Given the description of an element on the screen output the (x, y) to click on. 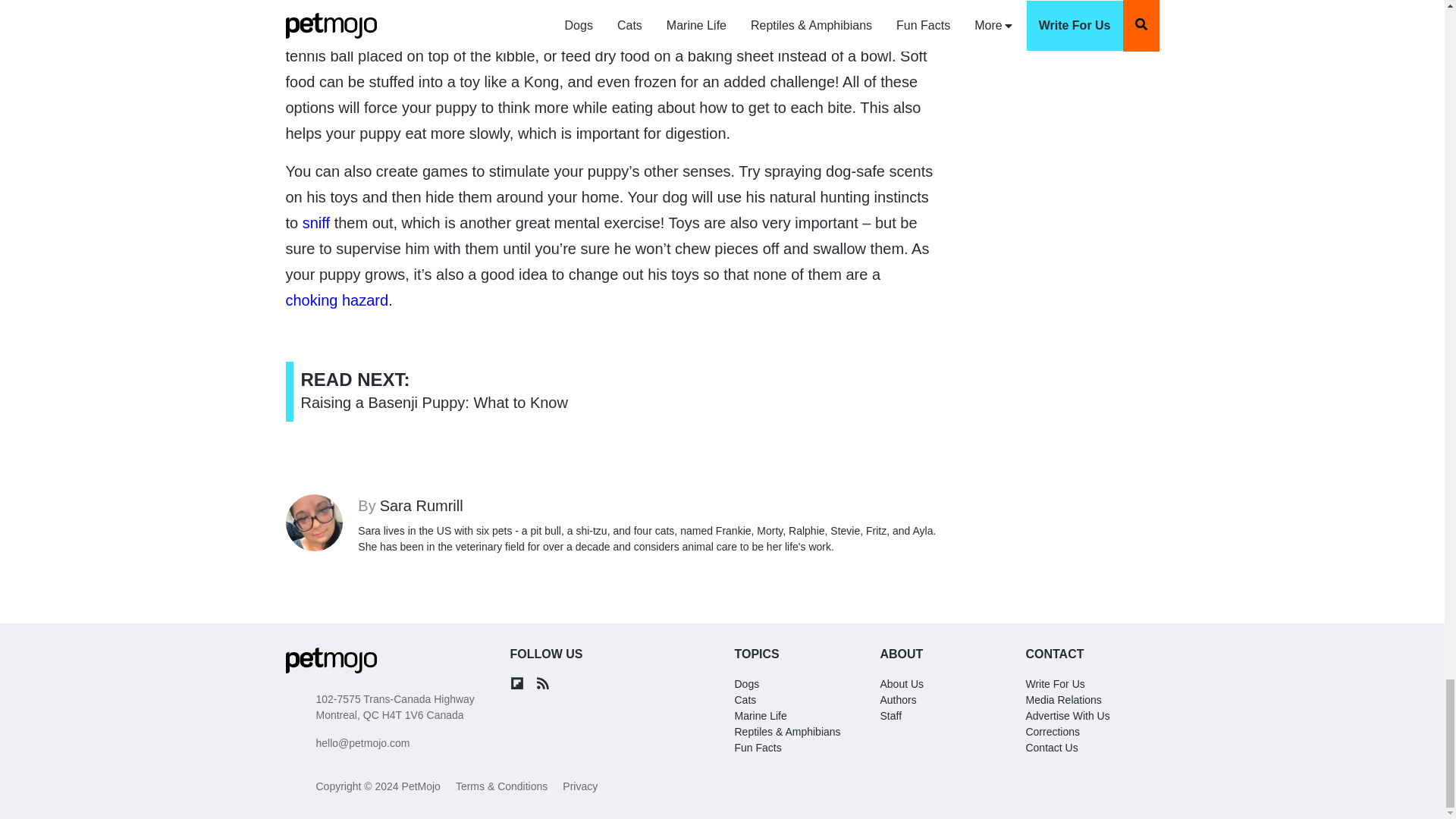
sniff (316, 222)
puzzle feeder! (433, 391)
choking hazard (489, 30)
